Given the description of an element on the screen output the (x, y) to click on. 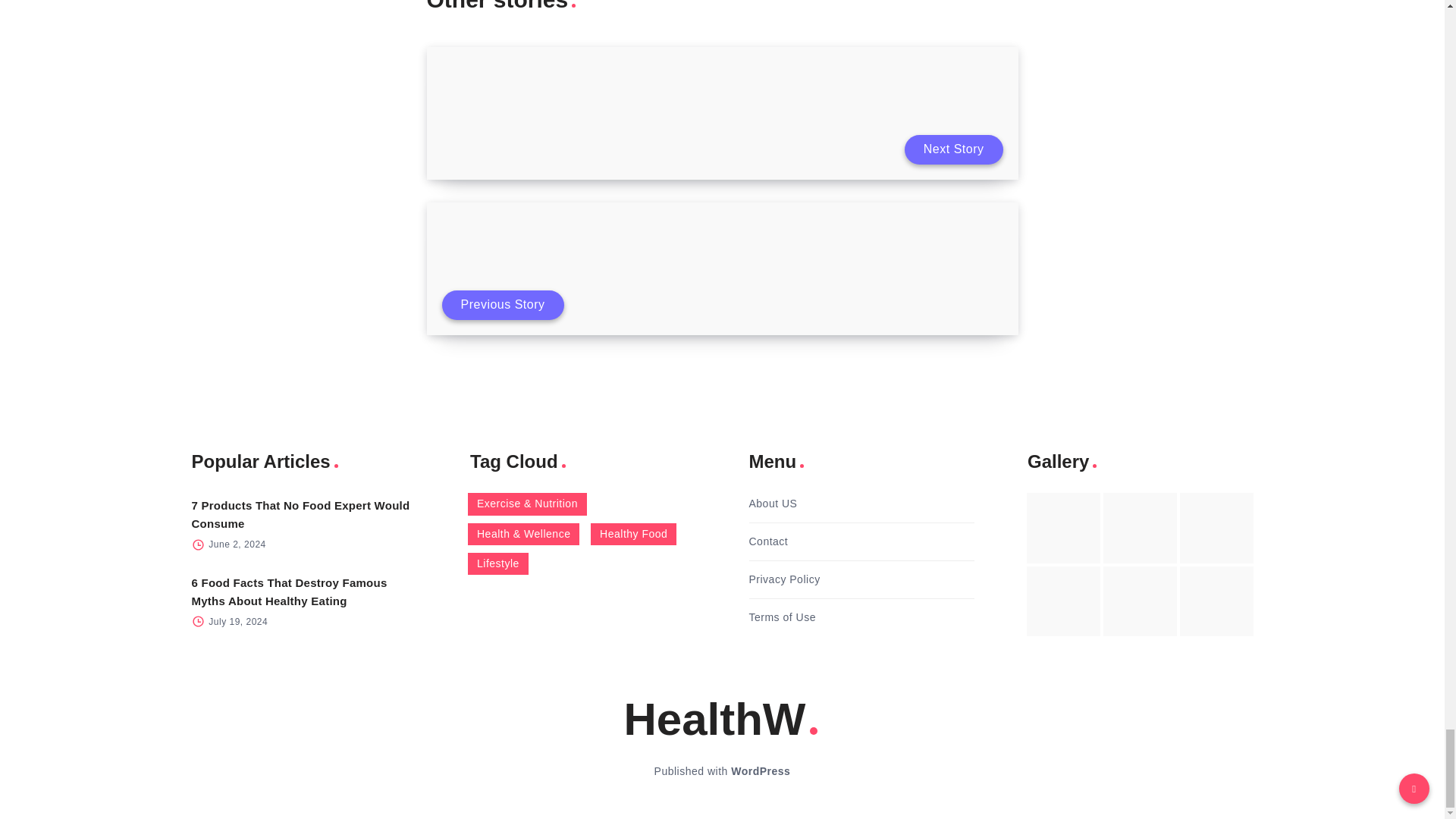
7 Products That No Food Expert Would Consume (299, 513)
6 Food Facts That Destroy Famous Myths About Healthy Eating (288, 591)
